Given the description of an element on the screen output the (x, y) to click on. 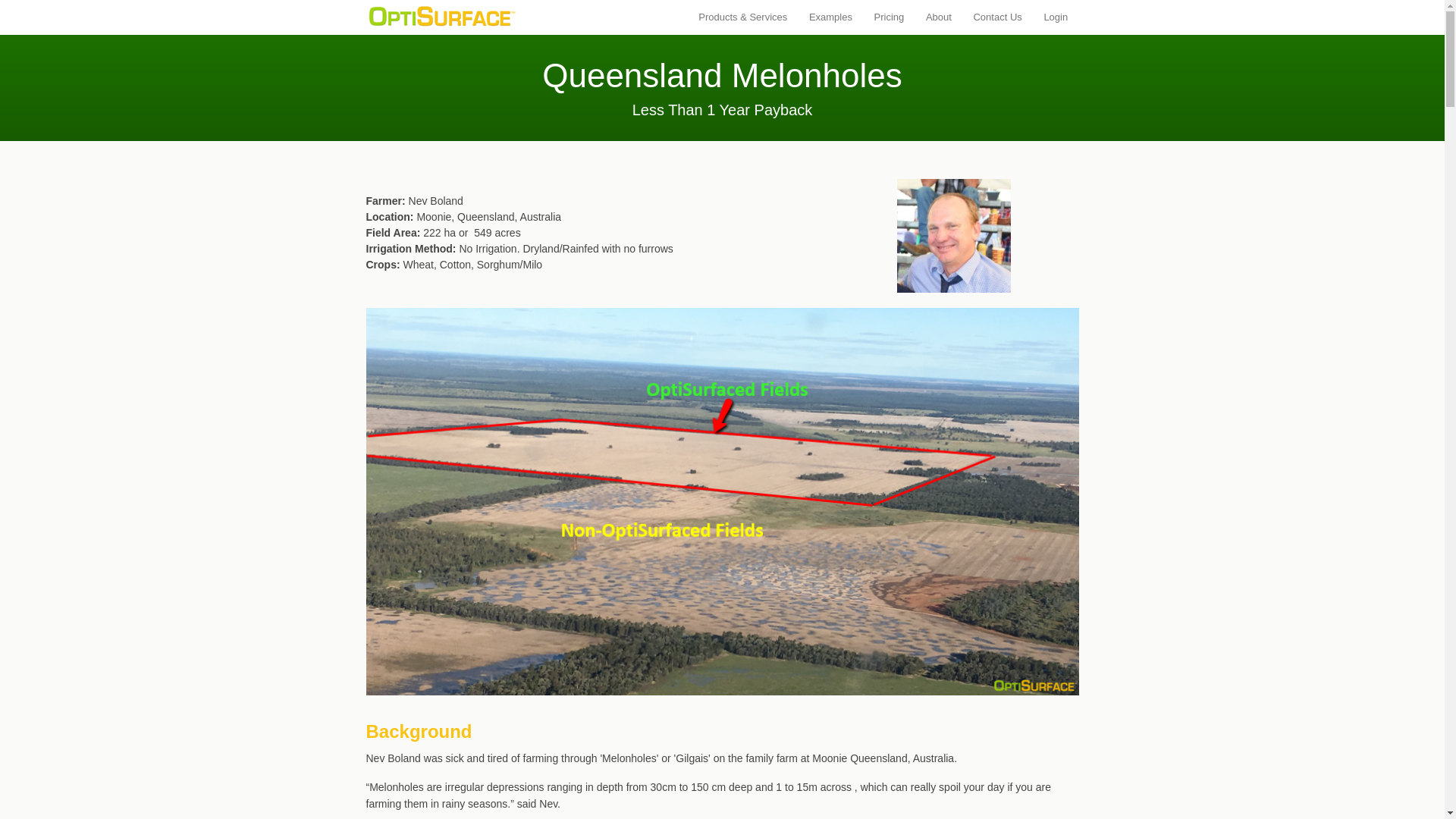
Pricing (888, 17)
Login (1055, 17)
About (938, 17)
OptiSurface (440, 13)
Examples (830, 17)
Contact Us (997, 17)
